Given the description of an element on the screen output the (x, y) to click on. 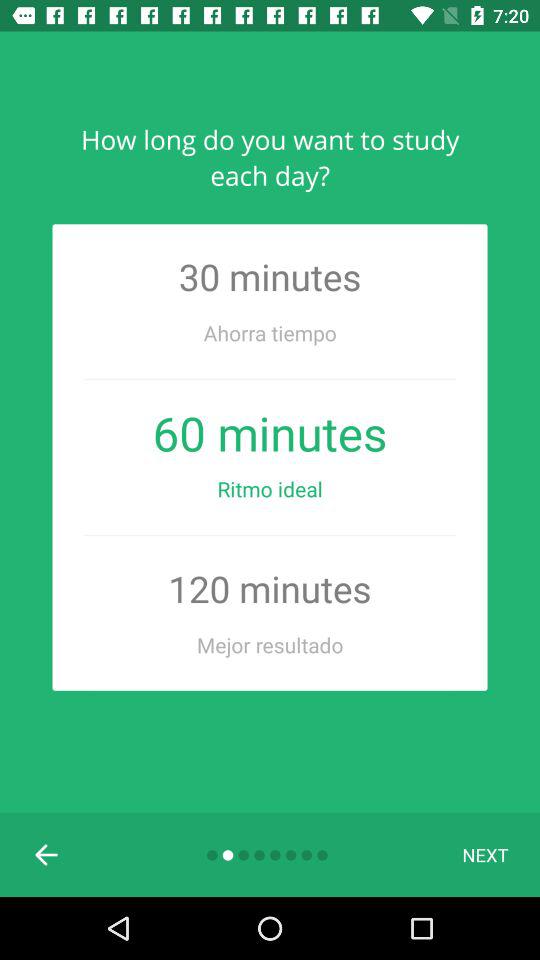
press item below the mejor resultado (47, 854)
